Given the description of an element on the screen output the (x, y) to click on. 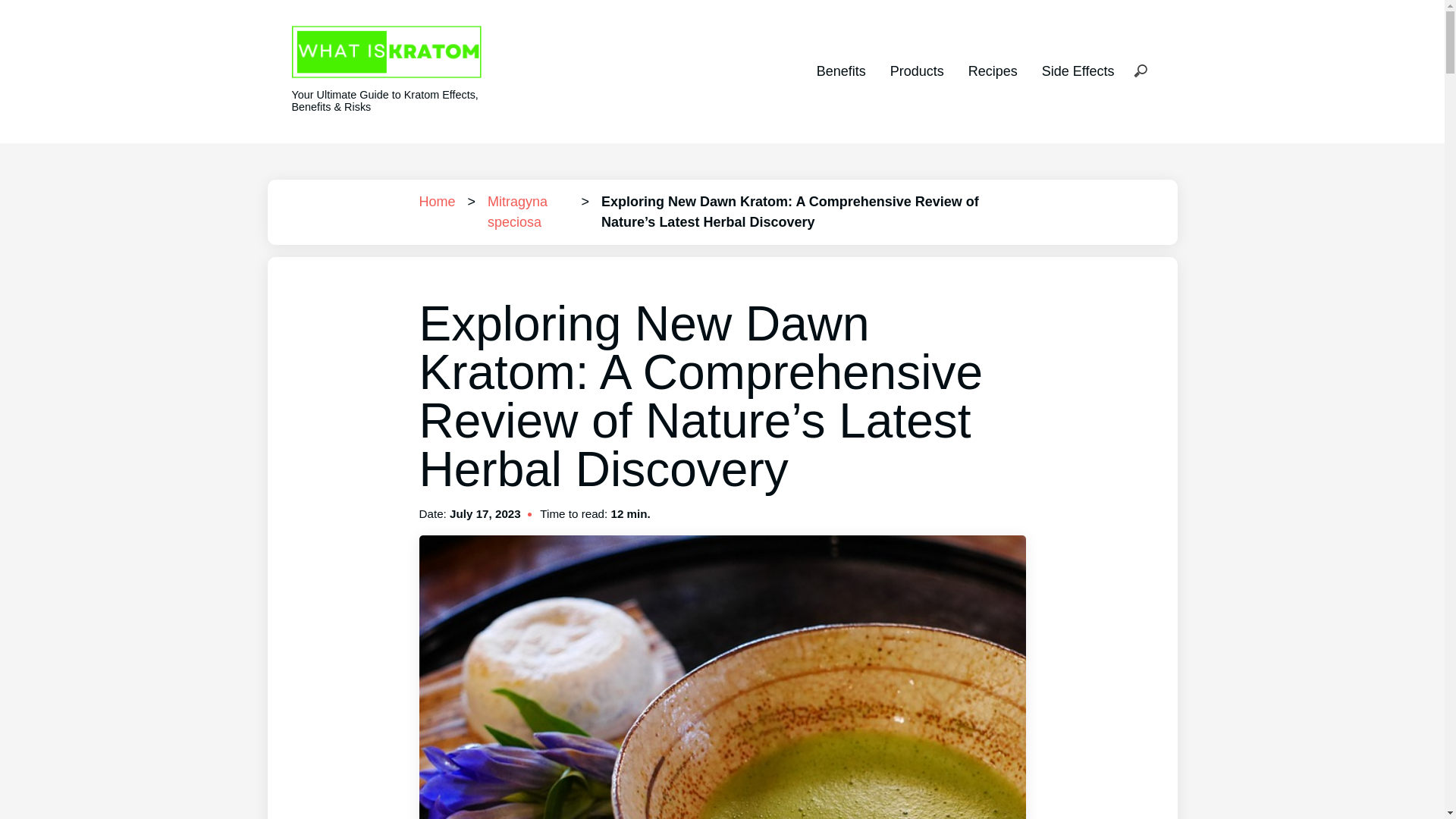
Home (436, 201)
Mitragyna speciosa (517, 212)
Recipes (992, 70)
Benefits (841, 70)
Search for: (1139, 71)
Home (436, 201)
Products (916, 70)
Side Effects (1078, 70)
